Given the description of an element on the screen output the (x, y) to click on. 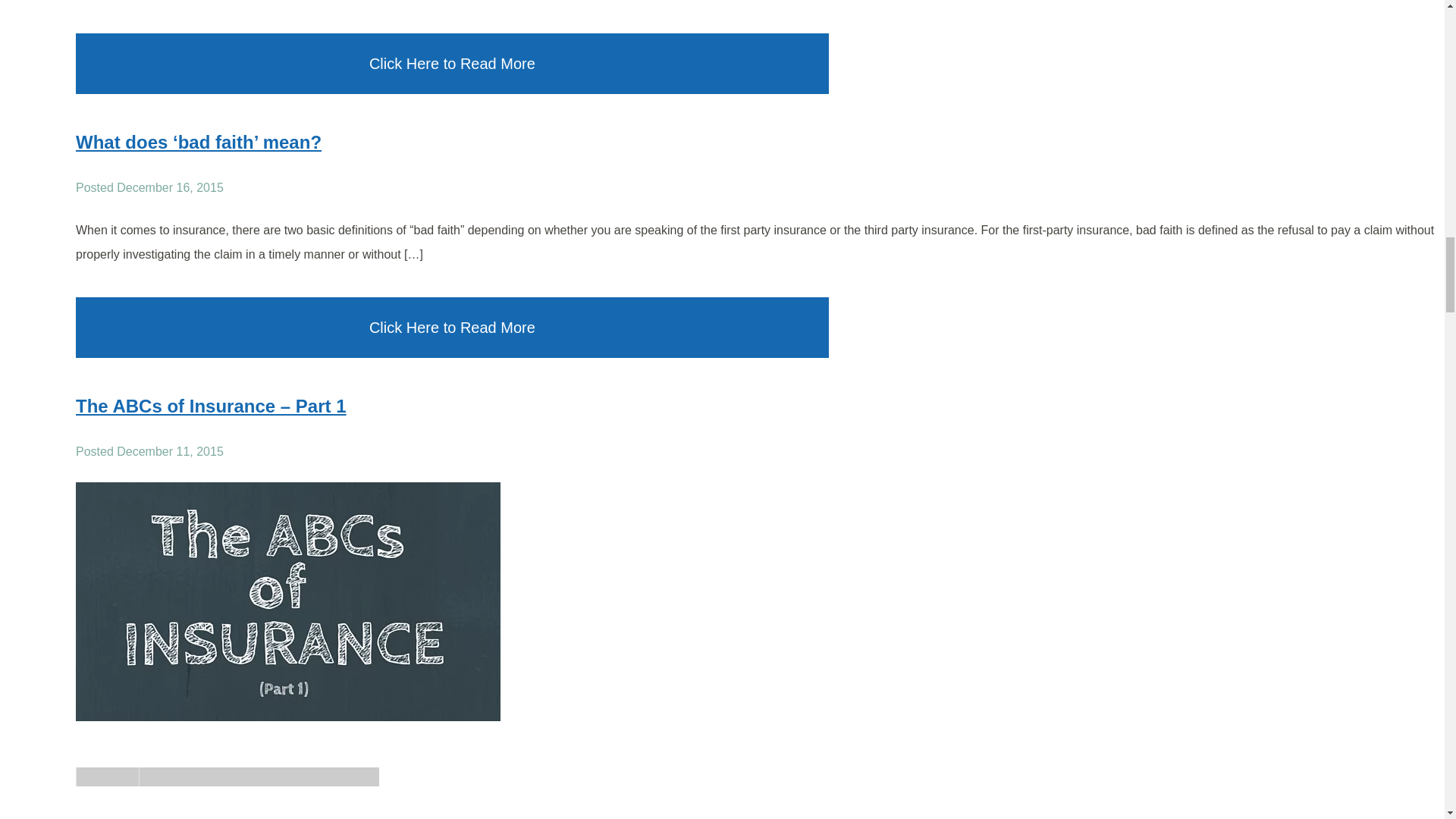
Read more (210, 405)
Read more (198, 141)
